Given the description of an element on the screen output the (x, y) to click on. 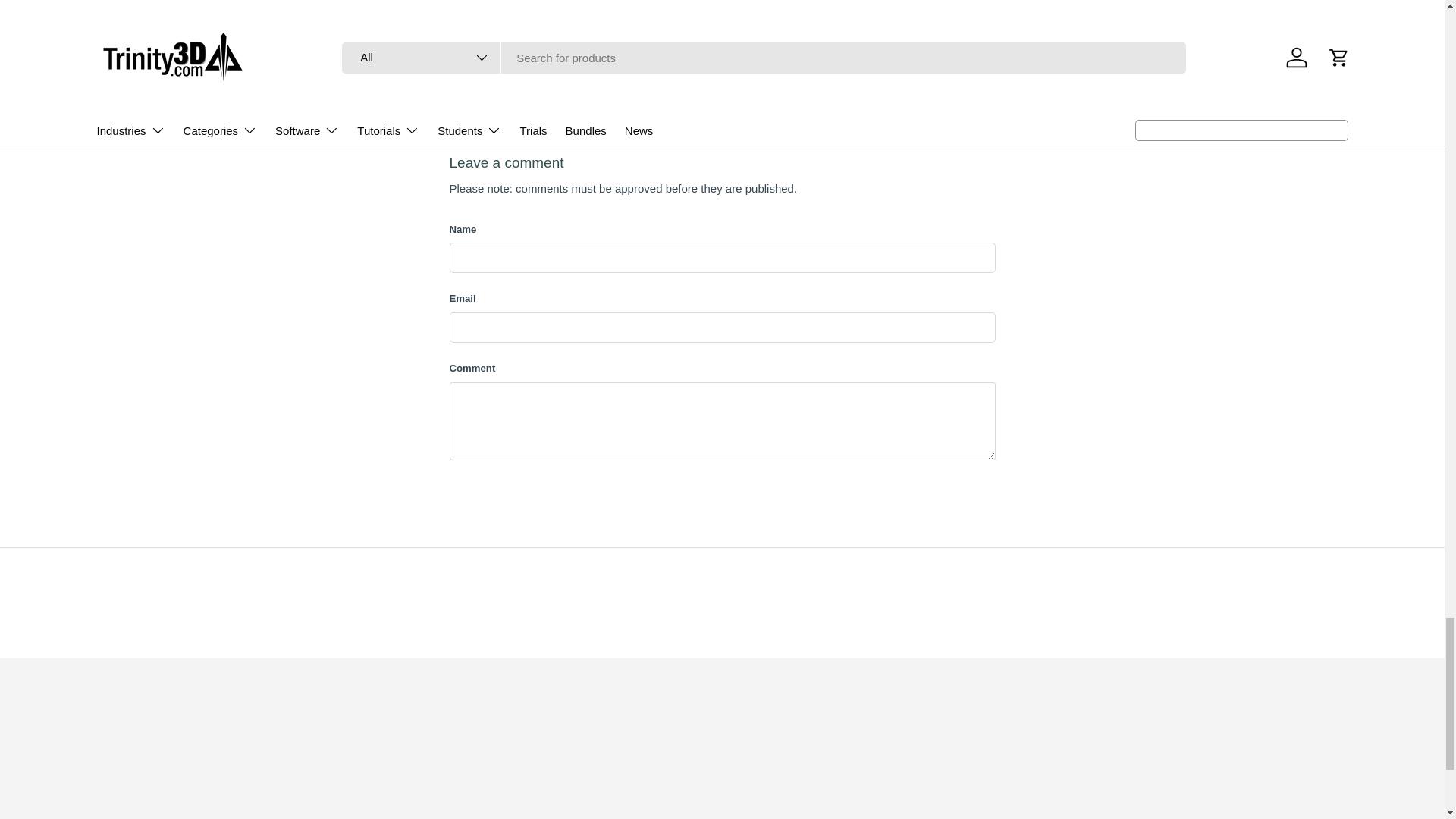
Pin on Pinterest (572, 107)
Tweet on X (505, 107)
Share on Facebook (539, 107)
